Given the description of an element on the screen output the (x, y) to click on. 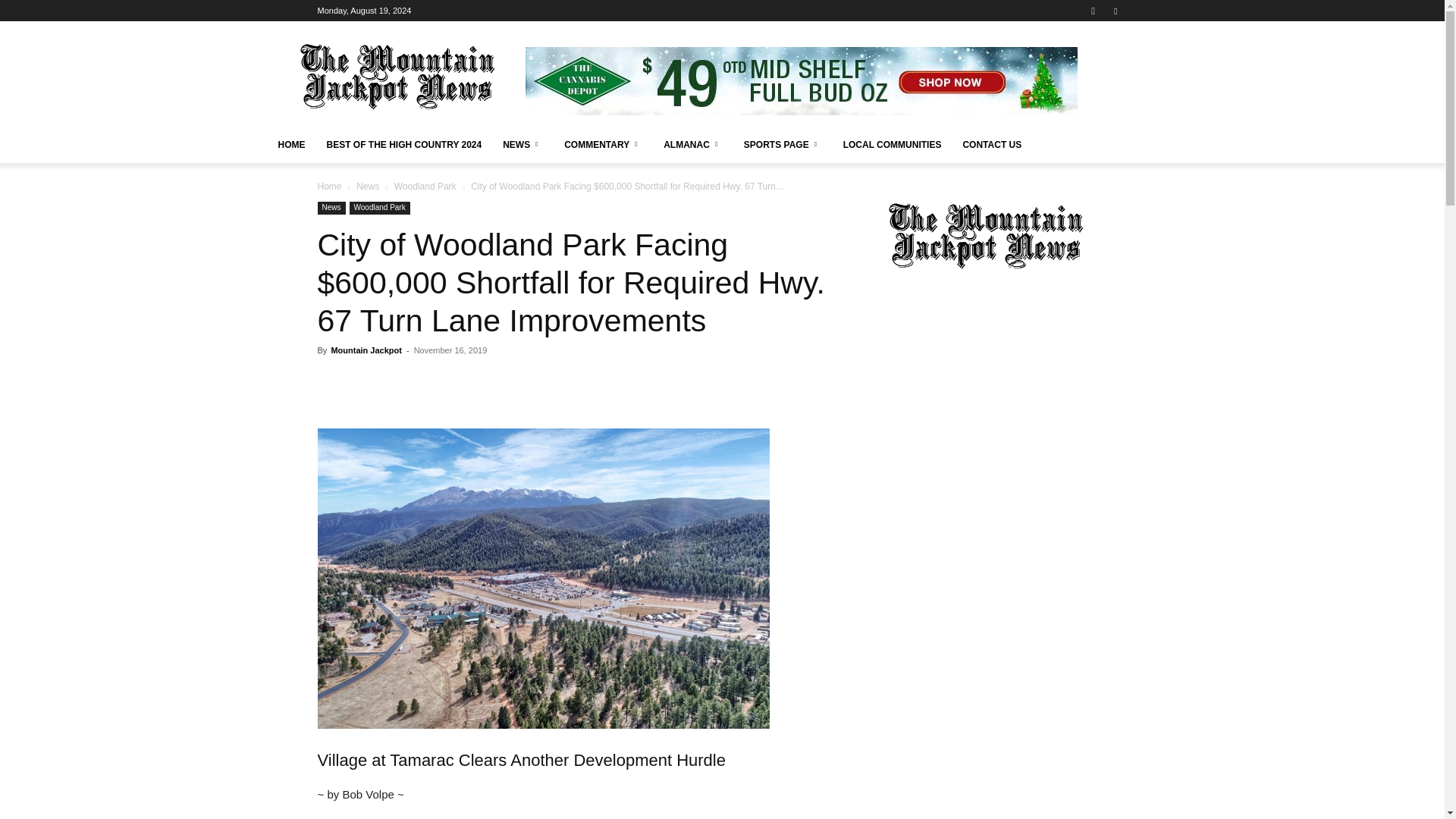
Search (1085, 64)
Facebook (1114, 10)
View all posts in Woodland Park (425, 185)
HOME (290, 144)
View all posts in News (367, 185)
NEWS (522, 144)
COMMENTARY (602, 144)
BEST OF THE HIGH COUNTRY 2024 (403, 144)
ALMANAC (692, 144)
SPORTS PAGE (782, 144)
